Given the description of an element on the screen output the (x, y) to click on. 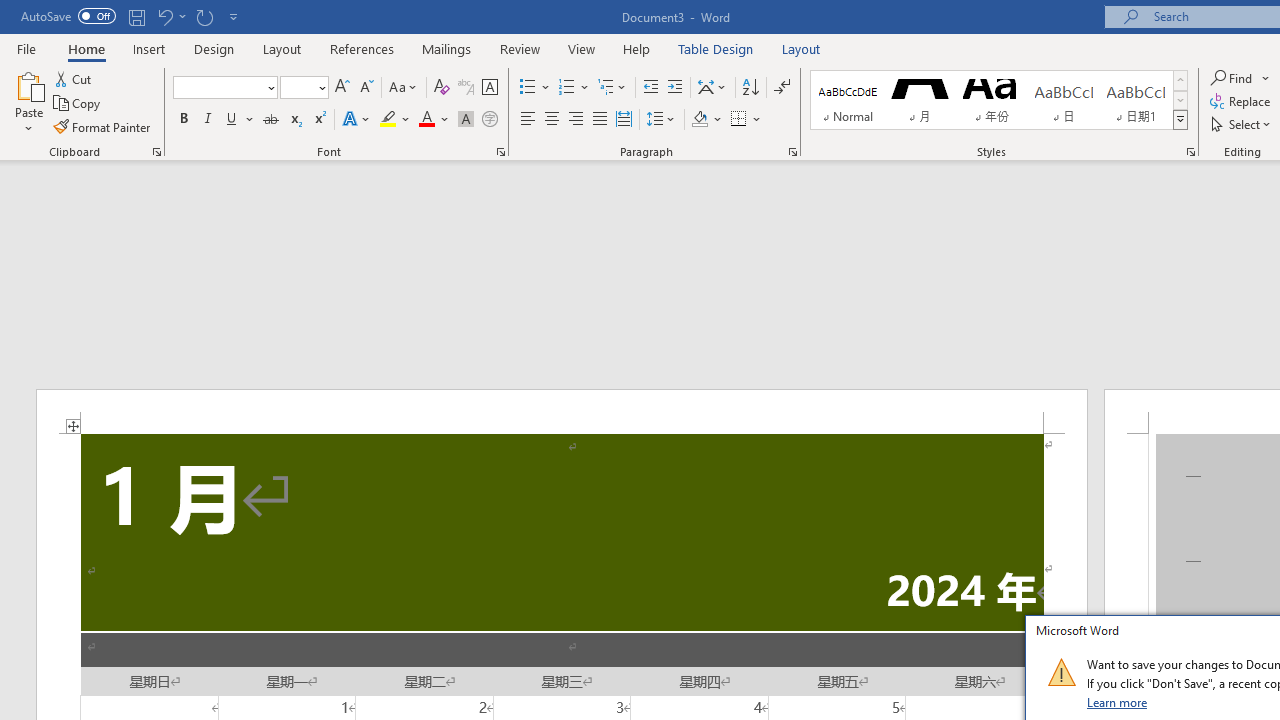
Font Color RGB(255, 0, 0) (426, 119)
Strikethrough (270, 119)
Shading RGB(0, 0, 0) (699, 119)
Clear Formatting (442, 87)
Italic (207, 119)
Paragraph... (792, 151)
Repeat Style (204, 15)
Cut (73, 78)
Multilevel List (613, 87)
Align Right (575, 119)
